Given the description of an element on the screen output the (x, y) to click on. 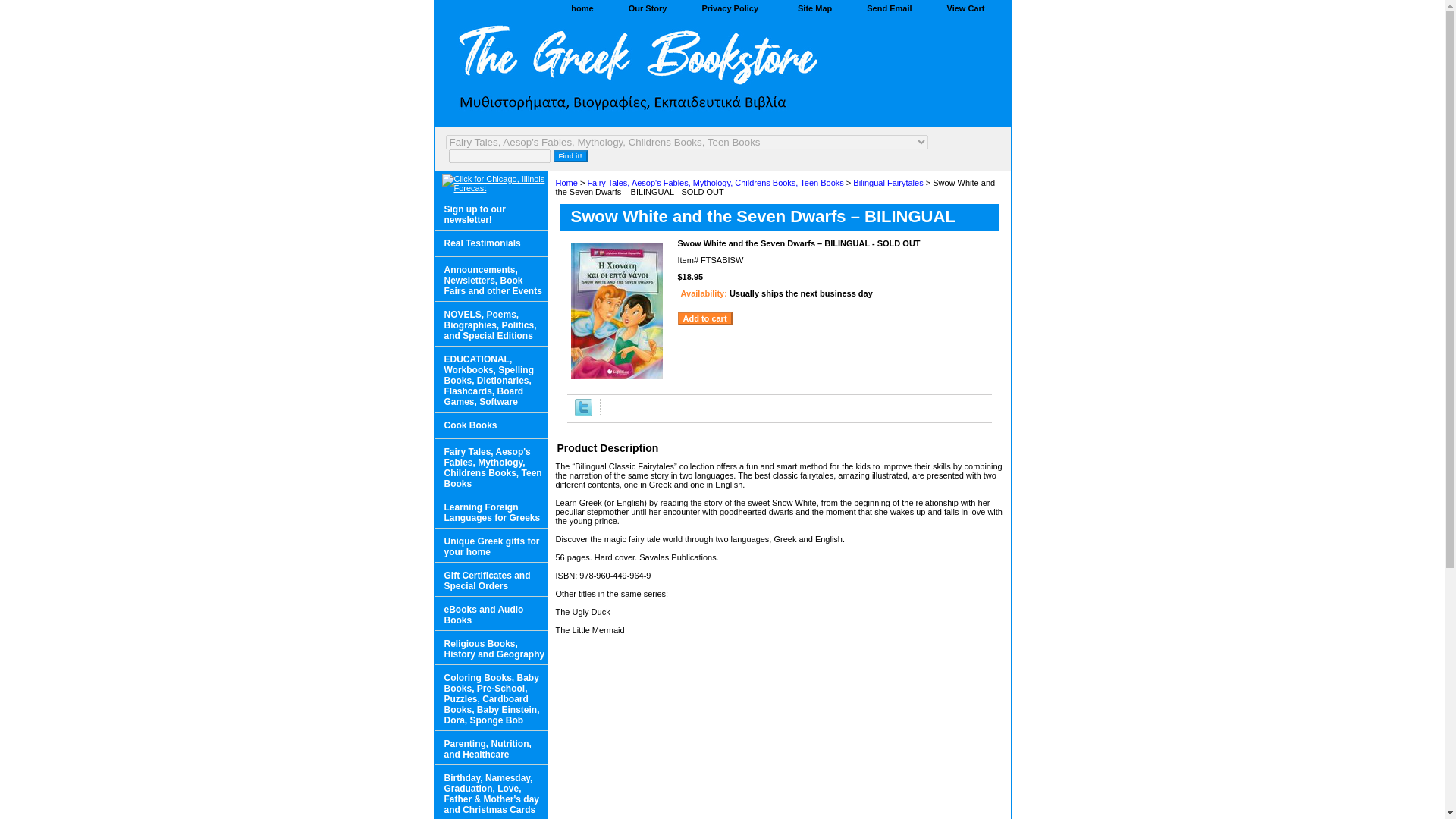
Our Story (647, 8)
Gift Certificates and Special Orders (490, 579)
Unique Greek gifts for your home (490, 545)
Parenting, Nutrition, and Healthcare (490, 747)
The Greek Bookstore (622, 72)
NOVELS, Poems, Biographies, Politics, and Special Editions (490, 324)
Cook Books (490, 425)
Bilingual Fairytales (888, 182)
